Given the description of an element on the screen output the (x, y) to click on. 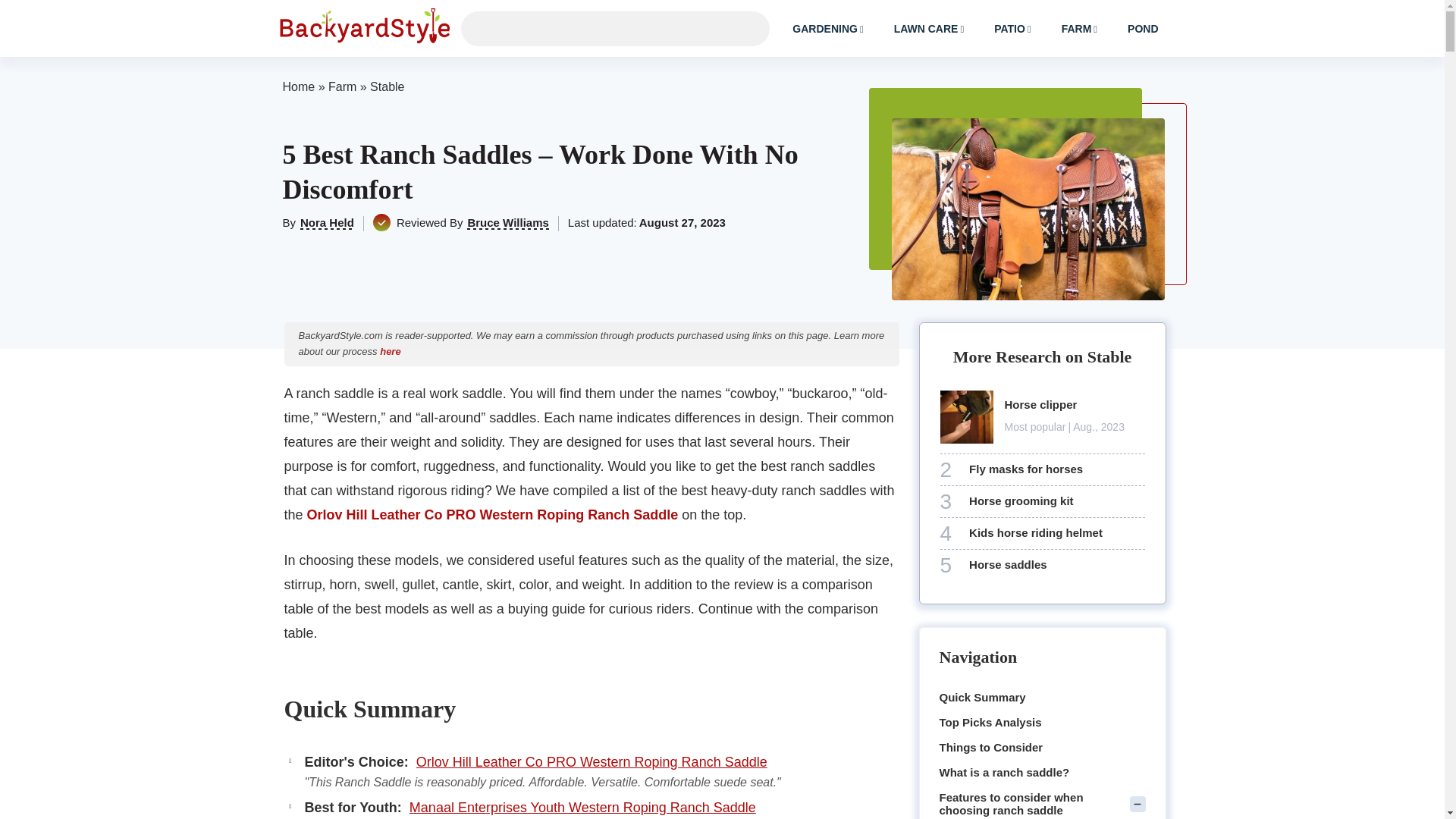
GARDENING (827, 28)
FARM (1079, 28)
LAWN CARE (929, 28)
PATIO (1012, 28)
